Given the description of an element on the screen output the (x, y) to click on. 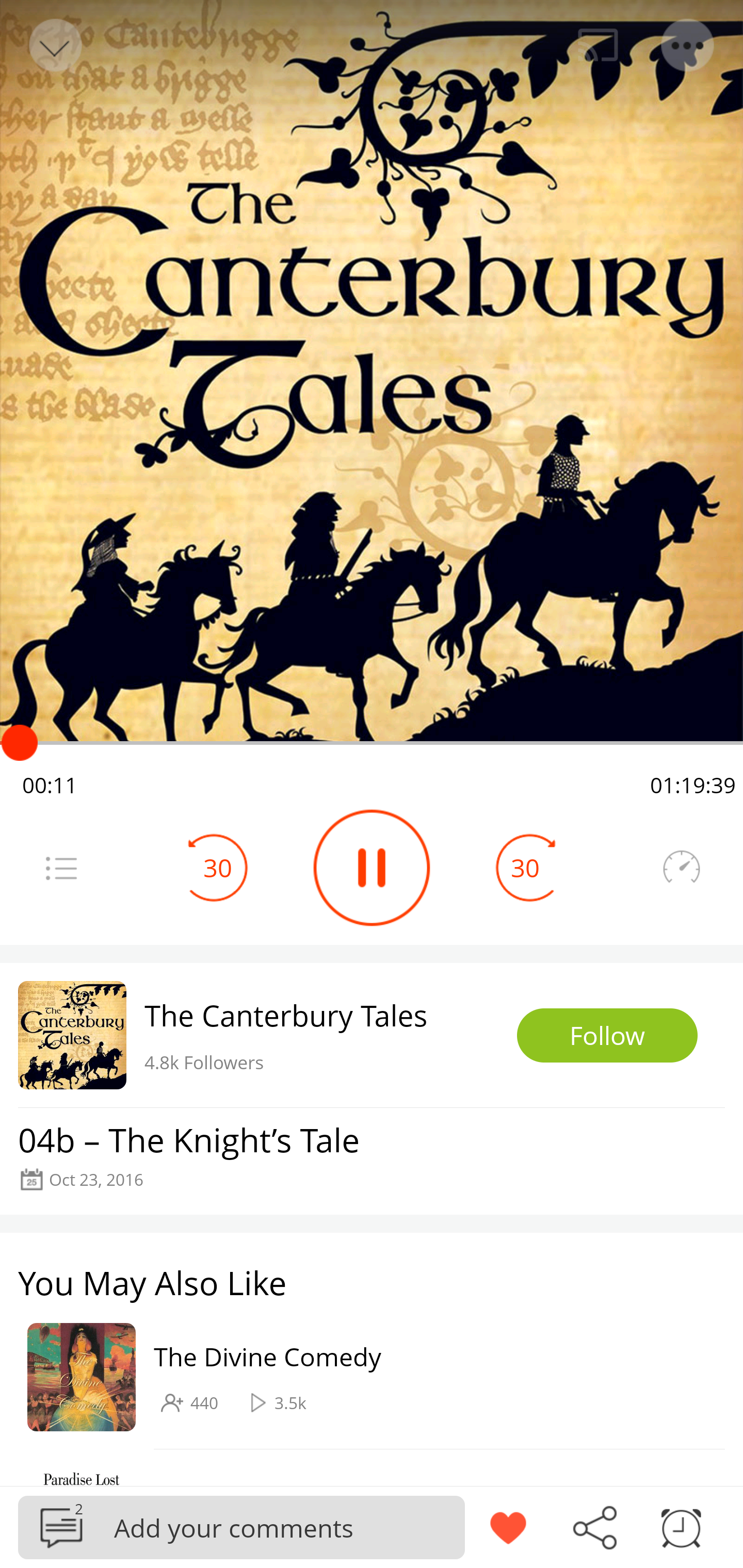
Back (53, 45)
Cast. Disconnected (597, 45)
Menu (688, 45)
Play (371, 867)
30 Seek Backward (217, 867)
30 Seek Forward (525, 867)
Menu (60, 867)
Speedometer (681, 867)
The Canterbury Tales 4.8k Followers Follow (371, 1034)
Follow (607, 1035)
The Divine Comedy 440 3.5k (362, 1376)
Like (508, 1526)
Share (594, 1526)
Sleep timer (681, 1526)
Podbean 2 Add your comments (241, 1526)
